Given the description of an element on the screen output the (x, y) to click on. 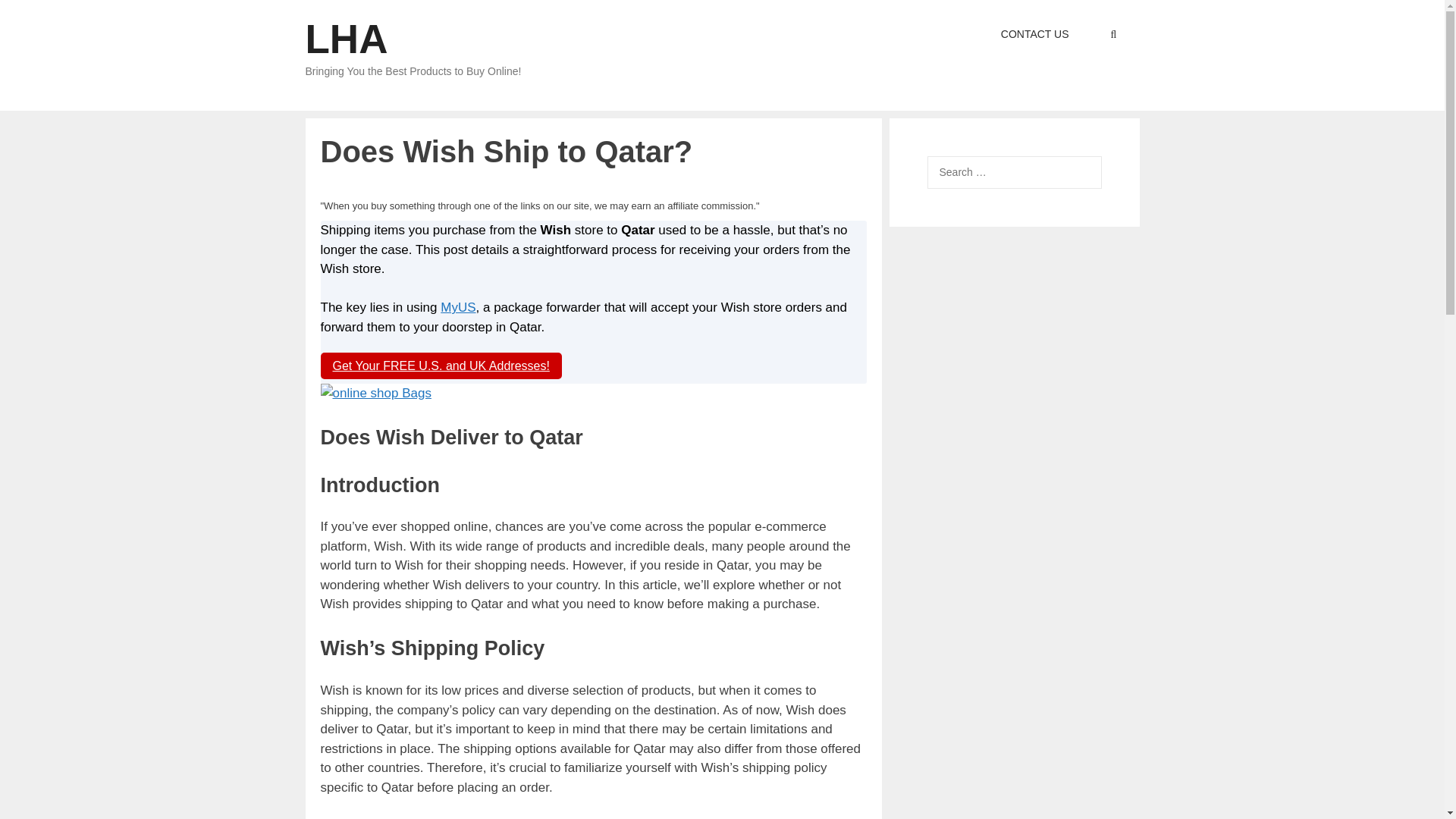
Search for: (1013, 172)
CONTACT US (1034, 34)
Get Your FREE U.S. and UK Addresses! (440, 365)
MyUS (458, 307)
Search (36, 15)
LHA (345, 38)
